Given the description of an element on the screen output the (x, y) to click on. 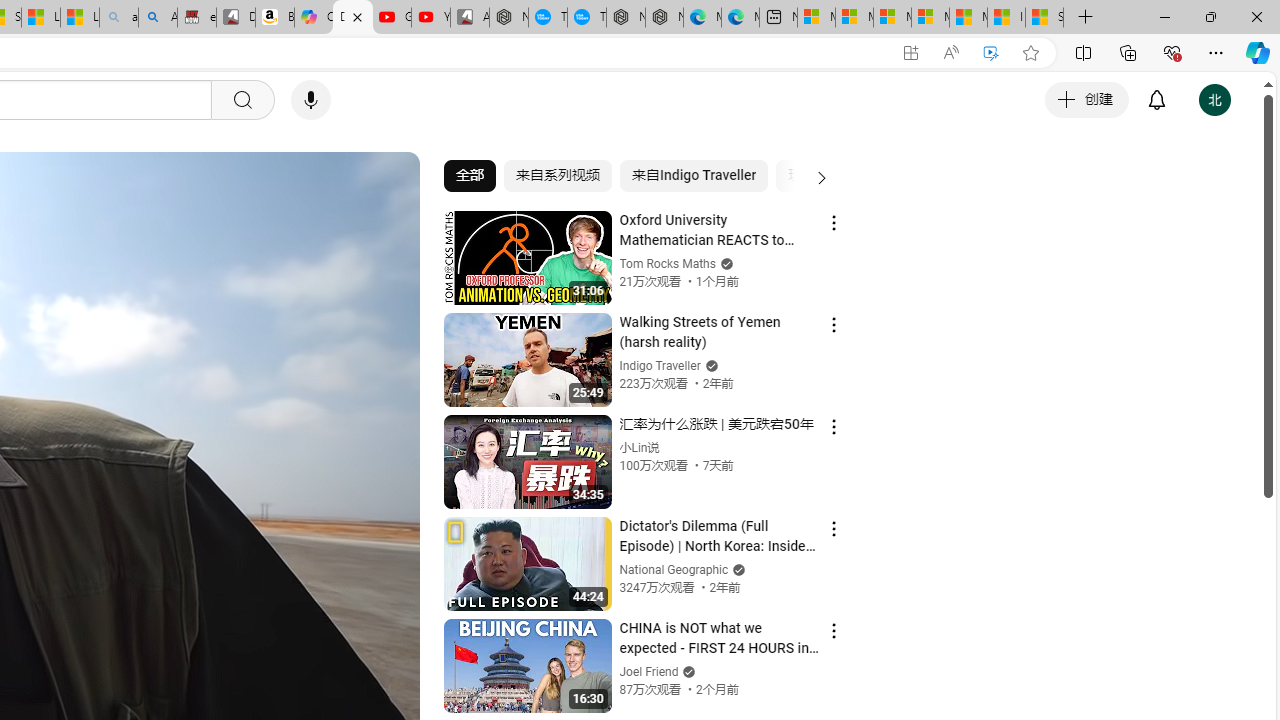
YouTube Kids - An App Created for Kids to Explore Content (431, 17)
Nordace - My Account (509, 17)
amazon - Search - Sleeping (118, 17)
Gloom - YouTube (391, 17)
